Given the description of an element on the screen output the (x, y) to click on. 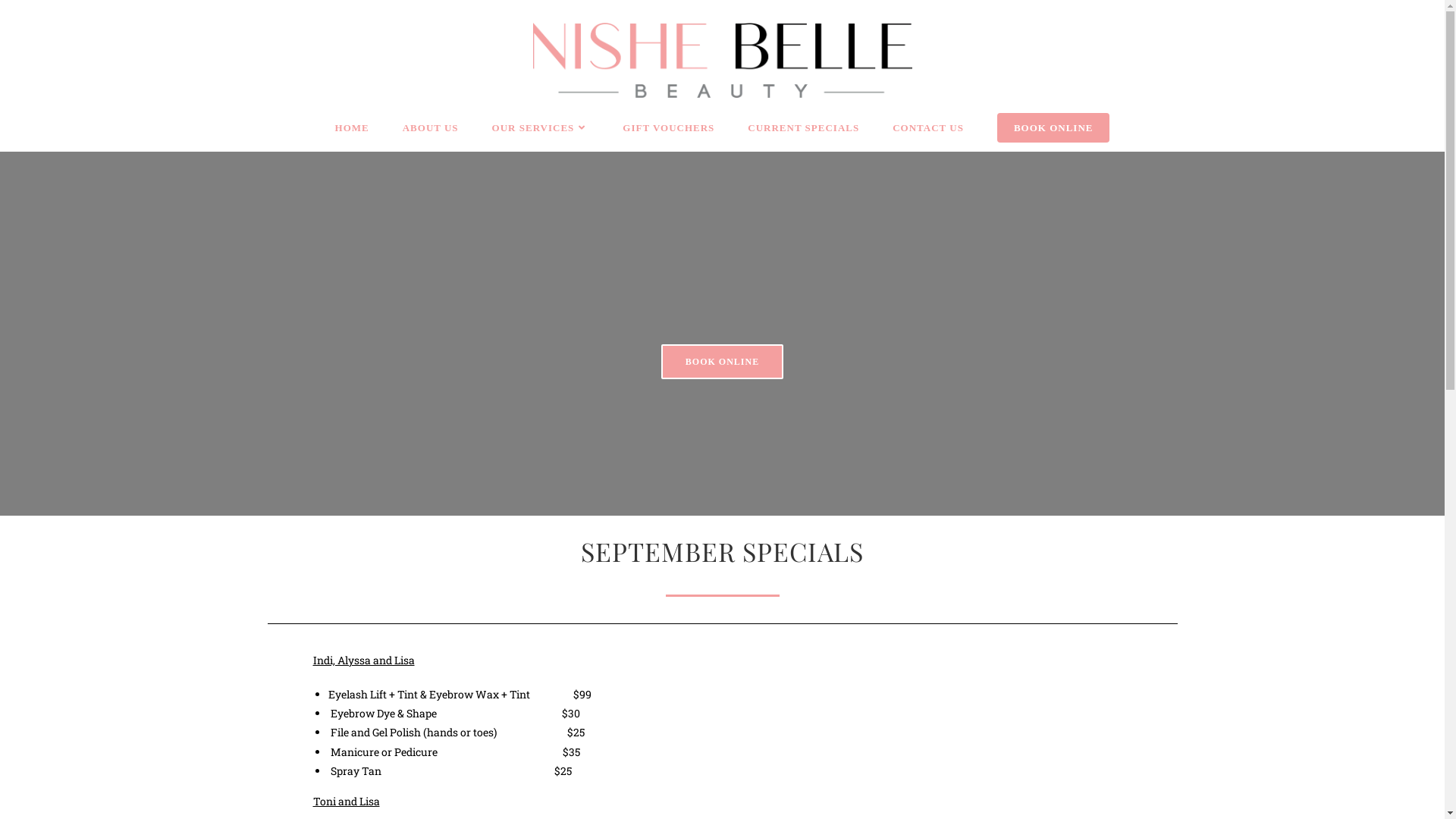
BOOK ONLINE Element type: text (722, 361)
GIFT VOUCHERS Element type: text (668, 127)
HOME Element type: text (351, 127)
BOOK ONLINE Element type: text (1053, 127)
OUR SERVICES Element type: text (540, 127)
ABOUT US Element type: text (430, 127)
CURRENT SPECIALS Element type: text (803, 127)
CONTACT US Element type: text (927, 127)
